Given the description of an element on the screen output the (x, y) to click on. 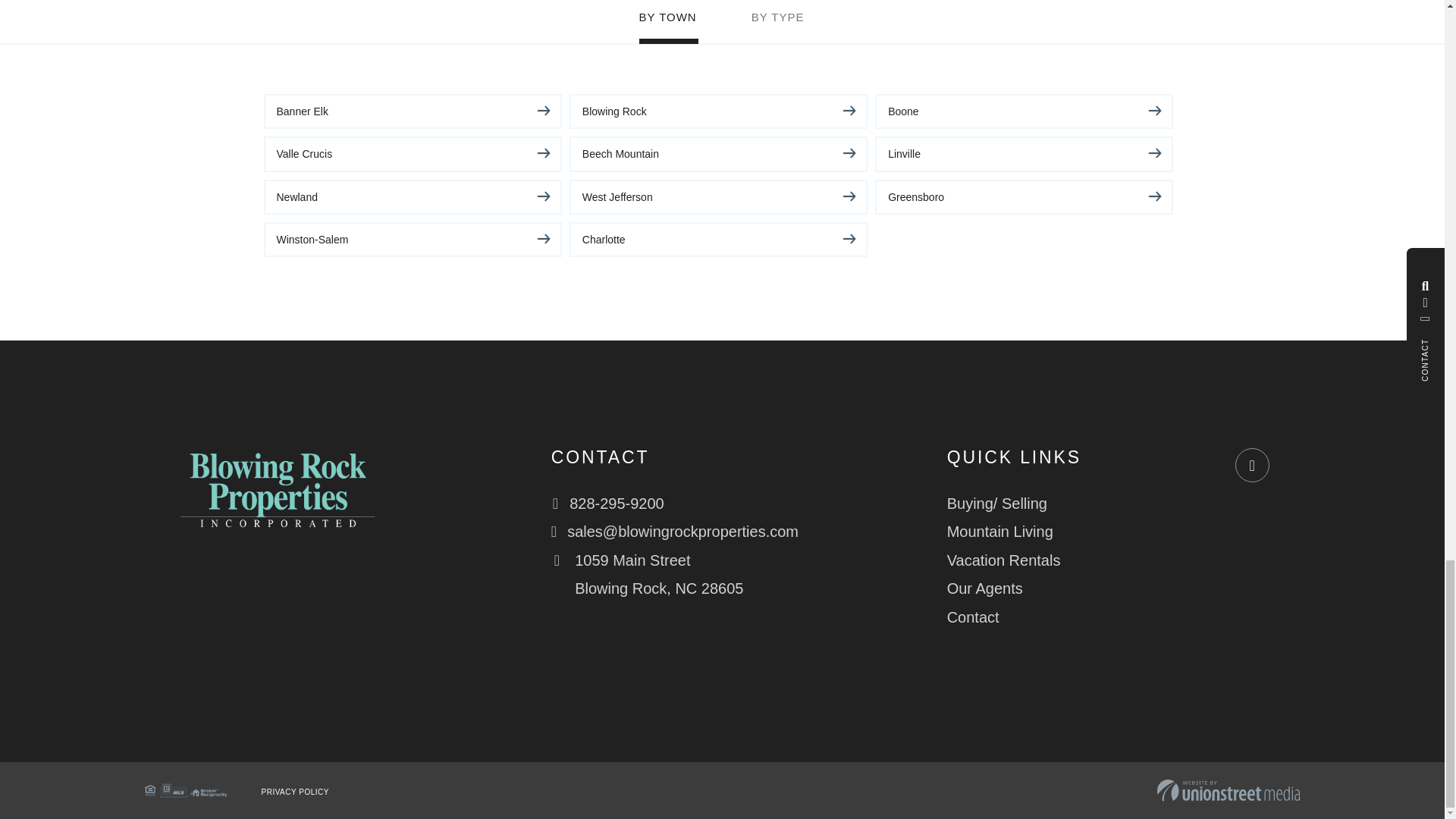
Homes For Sale Blowing Rock NC (718, 111)
Homes For Sale Boone NC (1024, 111)
Homes For Sale West Jefferson NC (718, 196)
Real Estate for Sale in Valle Crucis NC (412, 153)
Homes For Sale Charlotte NC (718, 239)
Homes For Sale Greensboro NC (1024, 196)
Real Estate For Sale Linville NC (1024, 153)
Homes For Sale Banner Elk NC (412, 111)
Homes for Sale Newland NC (412, 196)
Homes For Sale Winston-Salem NC (412, 239)
